Given the description of an element on the screen output the (x, y) to click on. 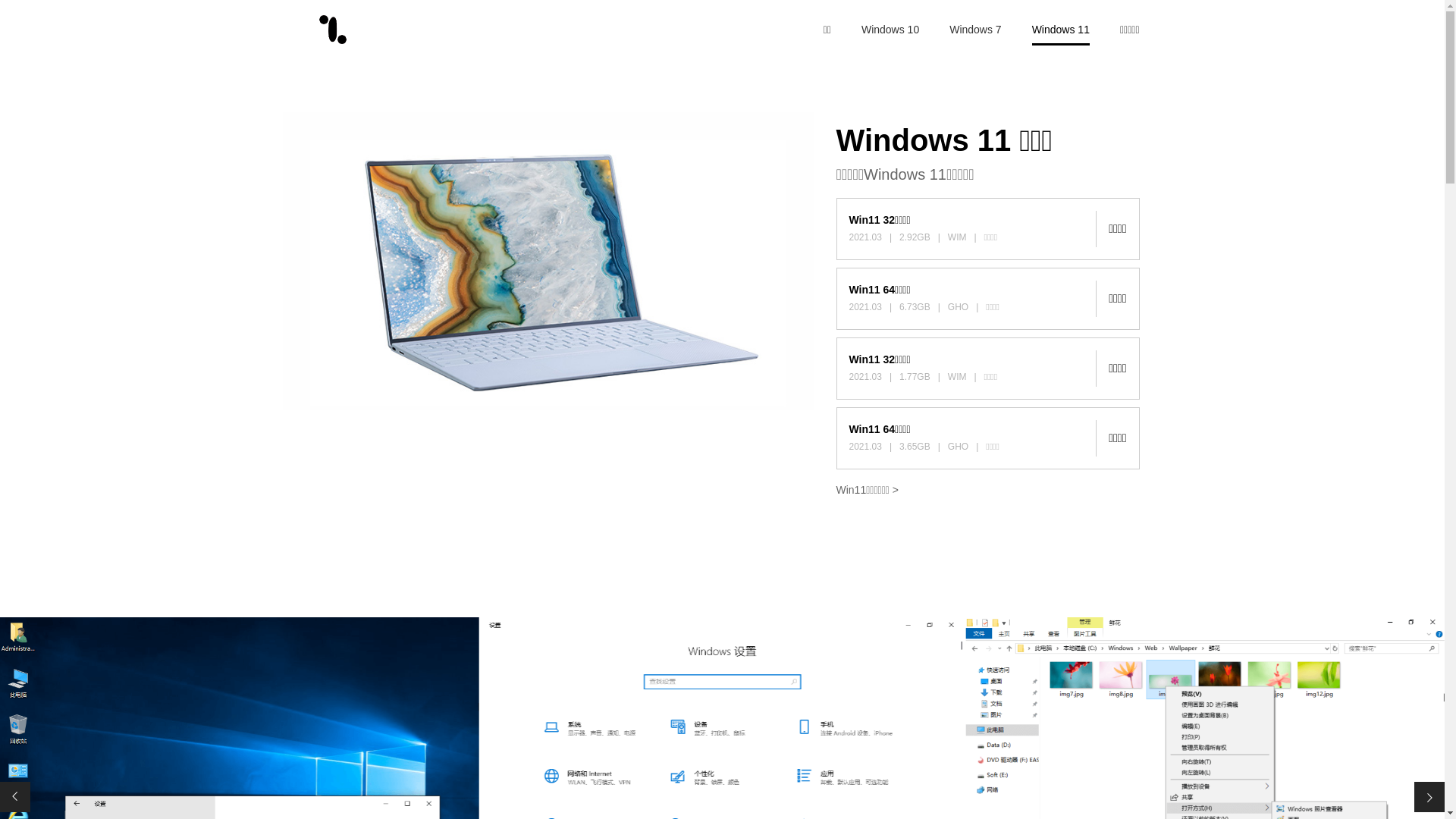
Windows 7 Element type: text (975, 29)
Windows 10 Element type: text (890, 29)
Windows 11 Element type: text (1060, 30)
